Given the description of an element on the screen output the (x, y) to click on. 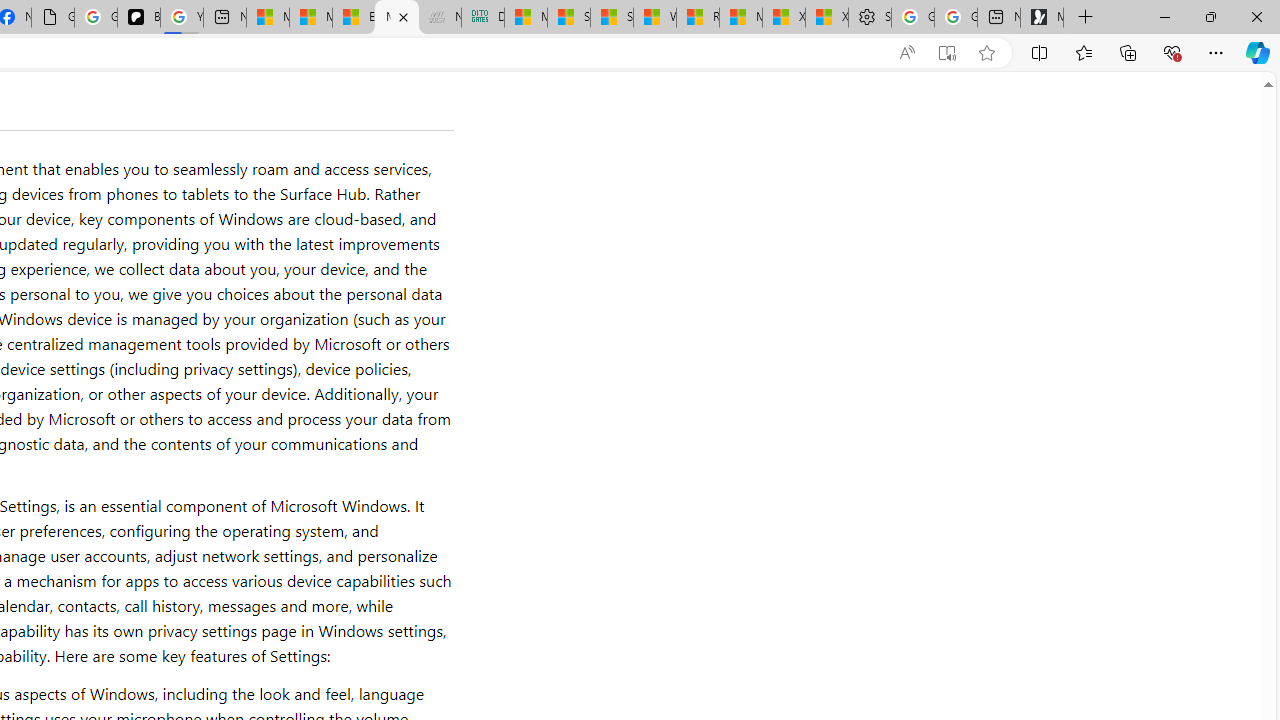
R******* | Trusted Community Engagement and Contributions (698, 17)
Entertainment - MSN (353, 17)
